Given the description of an element on the screen output the (x, y) to click on. 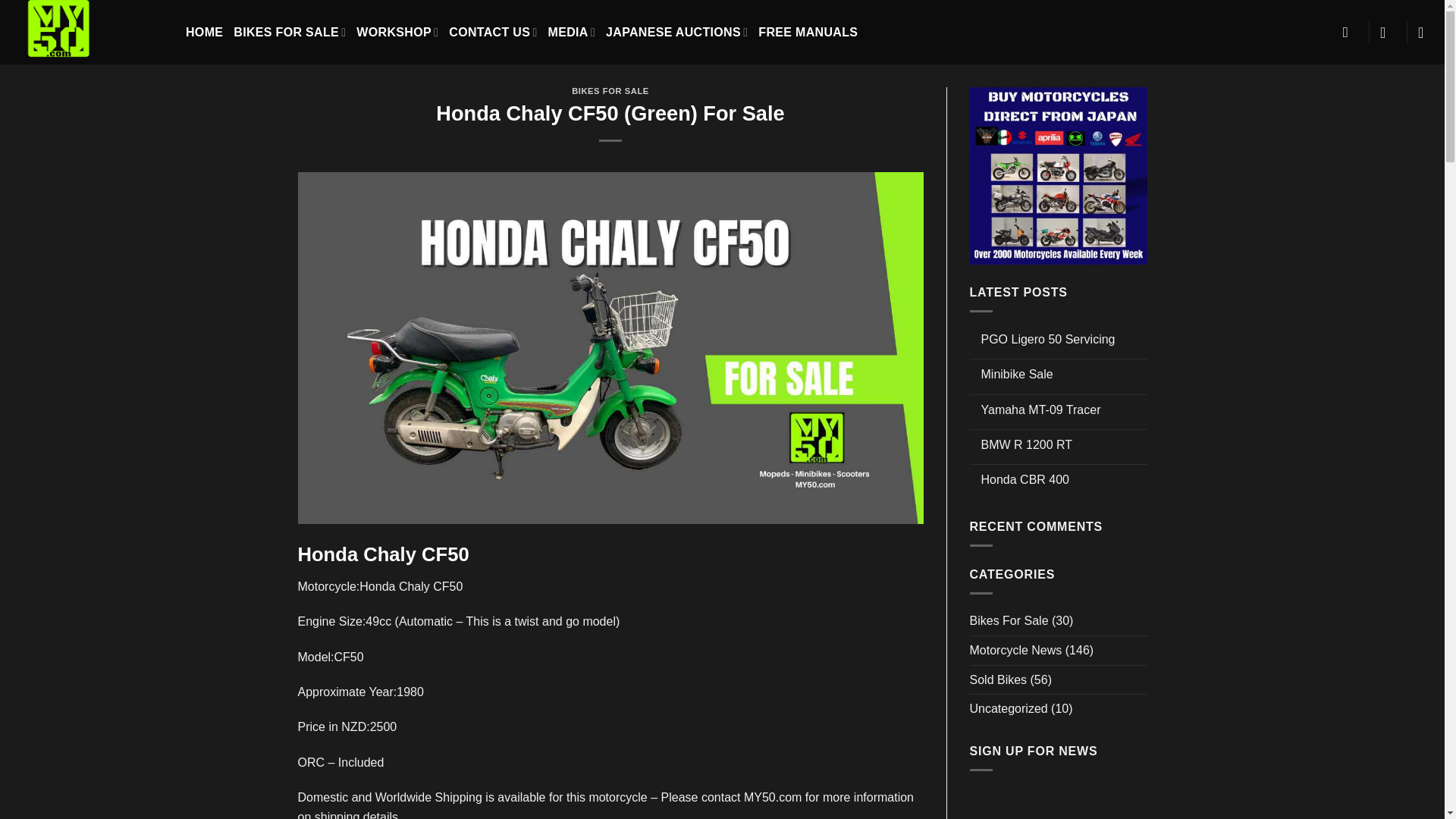
JAPANESE AUCTIONS (676, 31)
CONTACT US (492, 31)
BIKES FOR SALE (610, 90)
HOME (204, 31)
MEDIA (571, 31)
WORKSHOP (397, 31)
BIKES FOR SALE (289, 31)
FREE MANUALS (807, 31)
